Given the description of an element on the screen output the (x, y) to click on. 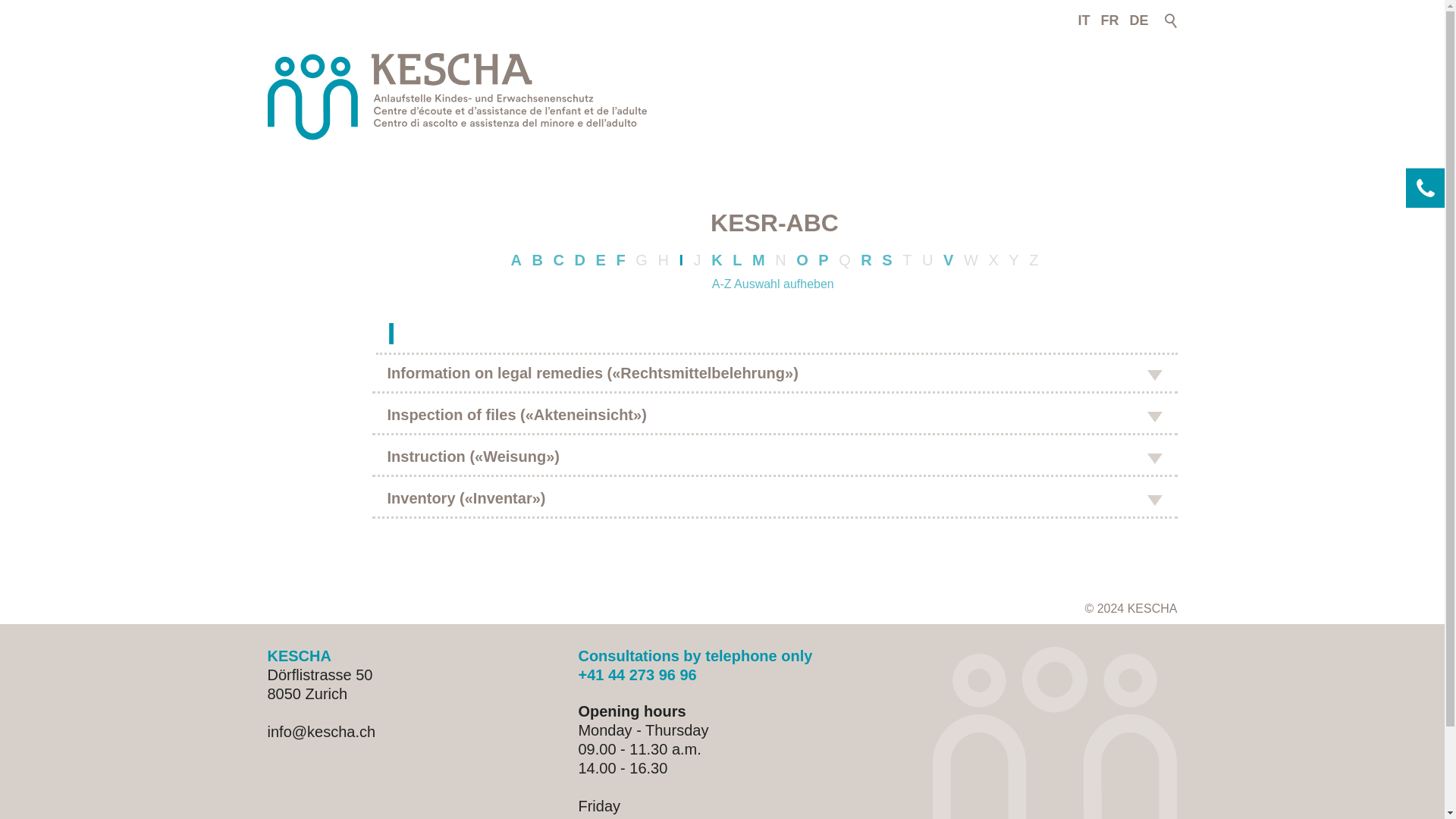
A-Z Auswahl aufheben (774, 283)
DE (1138, 17)
FR (1109, 17)
IT (1082, 17)
nfkschch (320, 731)
